Given the description of an element on the screen output the (x, y) to click on. 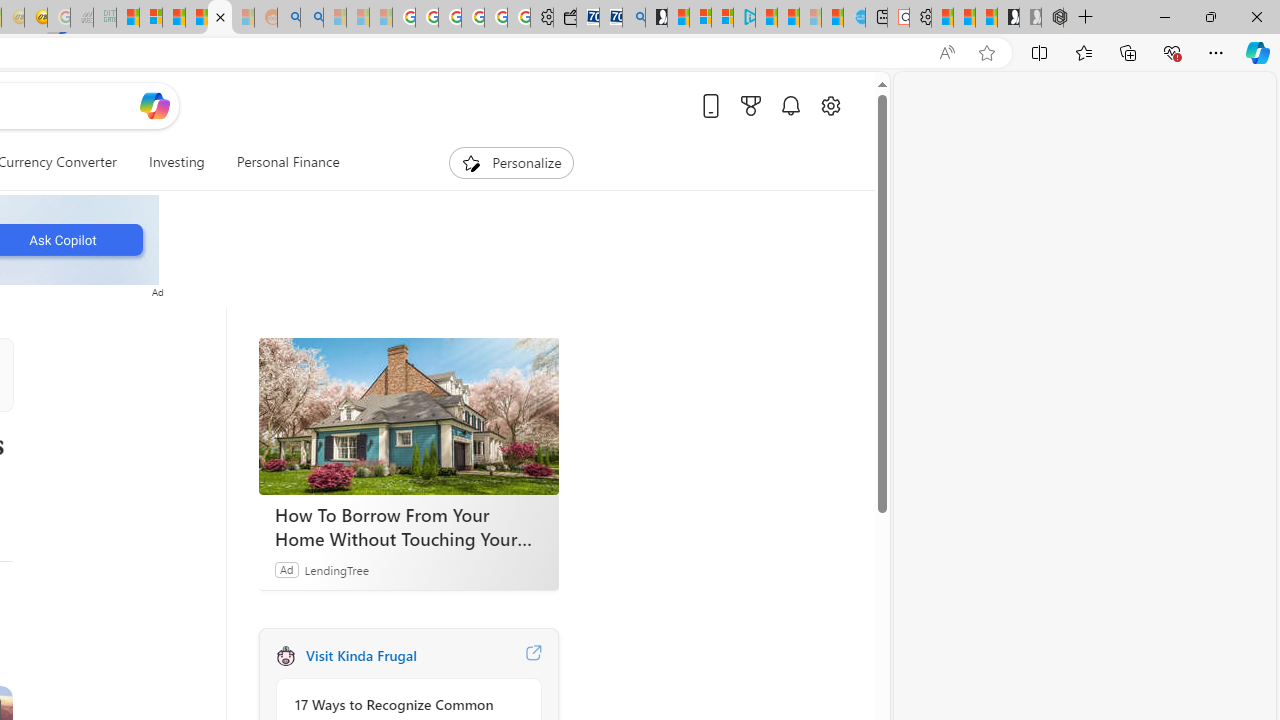
Microsoft account | Privacy (722, 17)
Notifications (790, 105)
Home | Sky Blue Bikes - Sky Blue Bikes (854, 17)
How To Borrow From Your Home Without Touching Your Mortgage (408, 416)
Microsoft Start (766, 17)
Utah sues federal government - Search (311, 17)
